Given the description of an element on the screen output the (x, y) to click on. 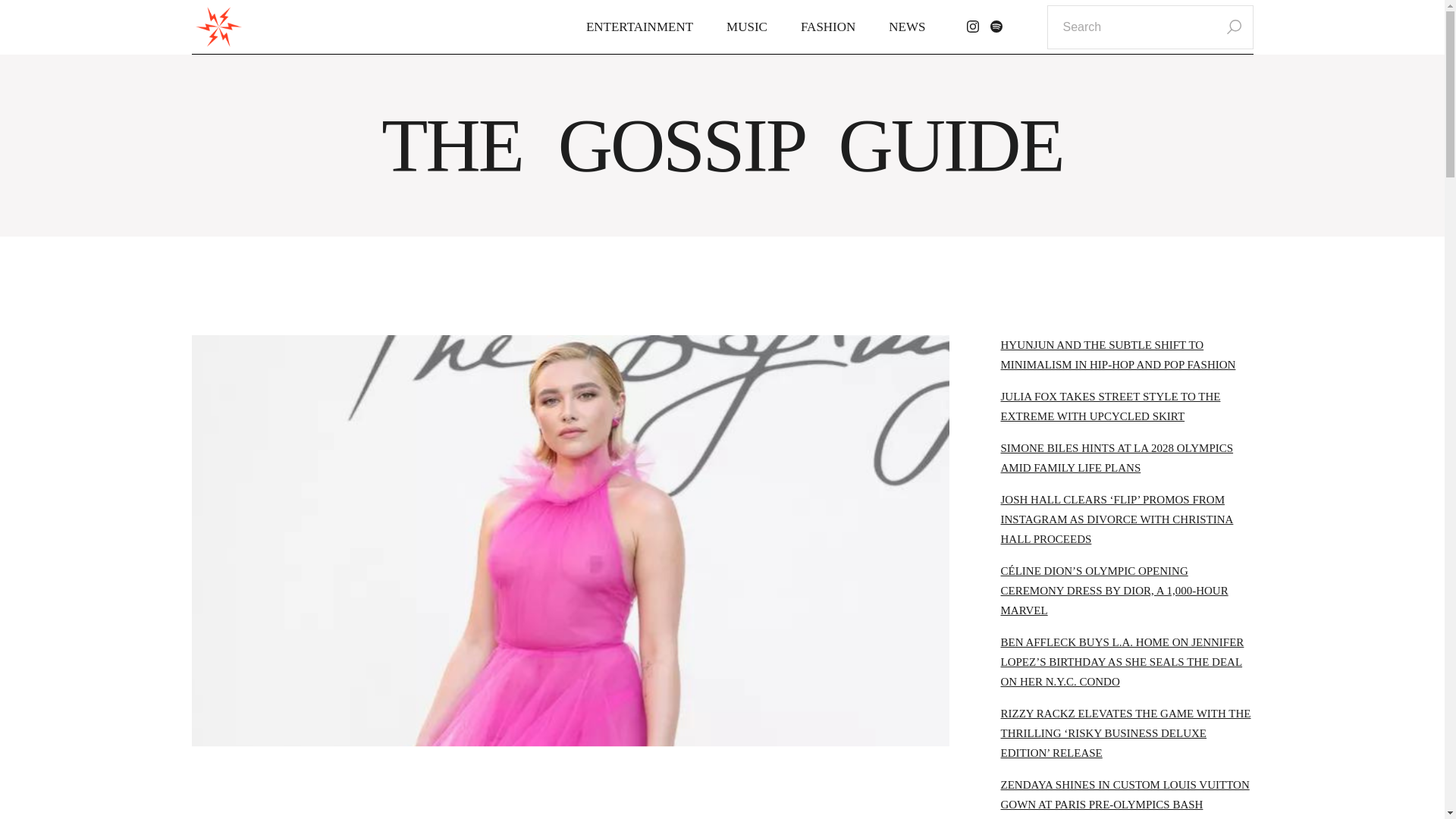
FASHION (828, 27)
ENTERTAINMENT (639, 27)
NEWS (906, 27)
MUSIC (746, 27)
